Given the description of an element on the screen output the (x, y) to click on. 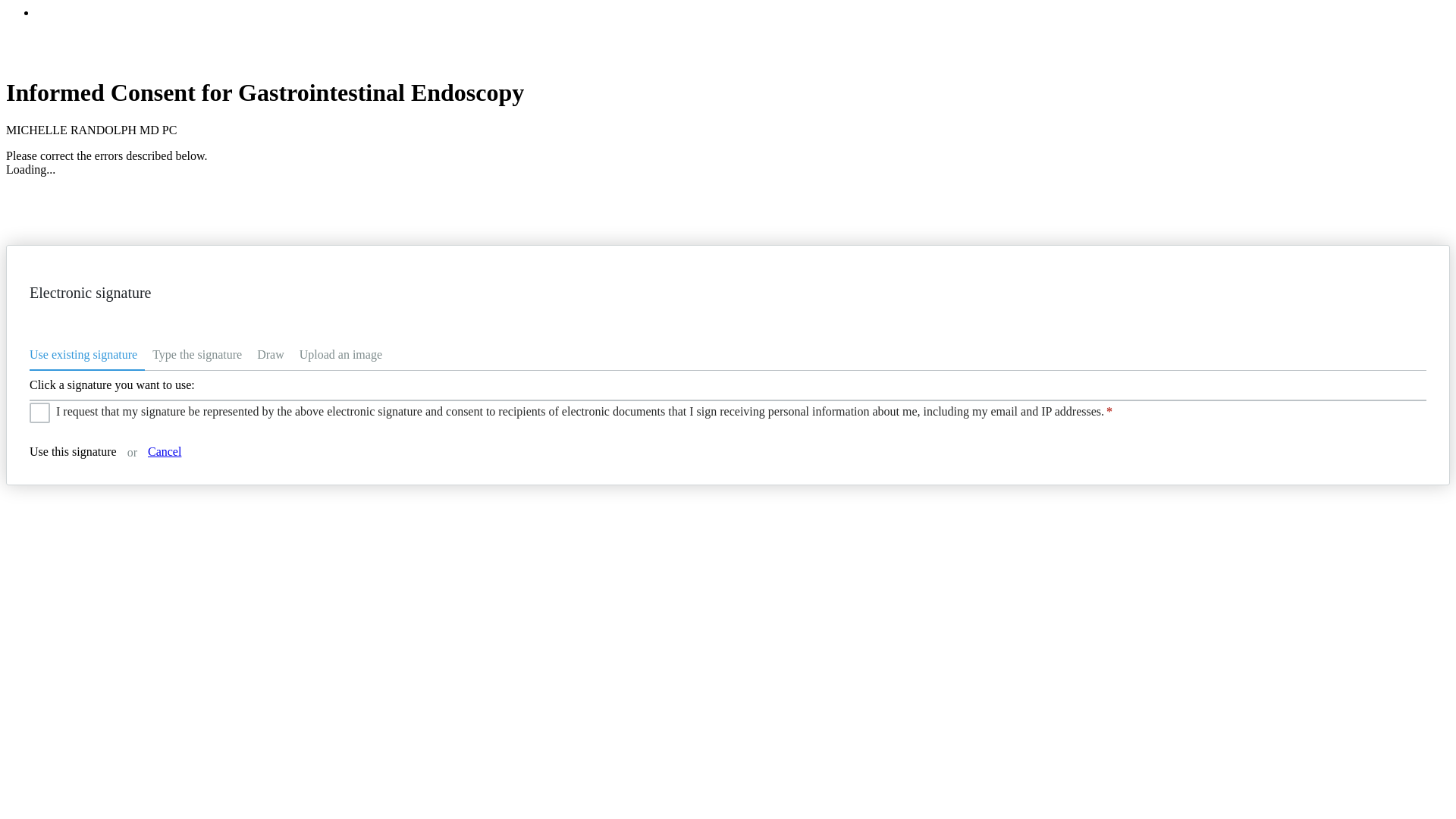
Draw (270, 357)
Cancel (164, 451)
1 (36, 408)
Use this signature (72, 451)
Use existing signature (86, 357)
Upload an image (341, 357)
Type the signature (196, 357)
